Given the description of an element on the screen output the (x, y) to click on. 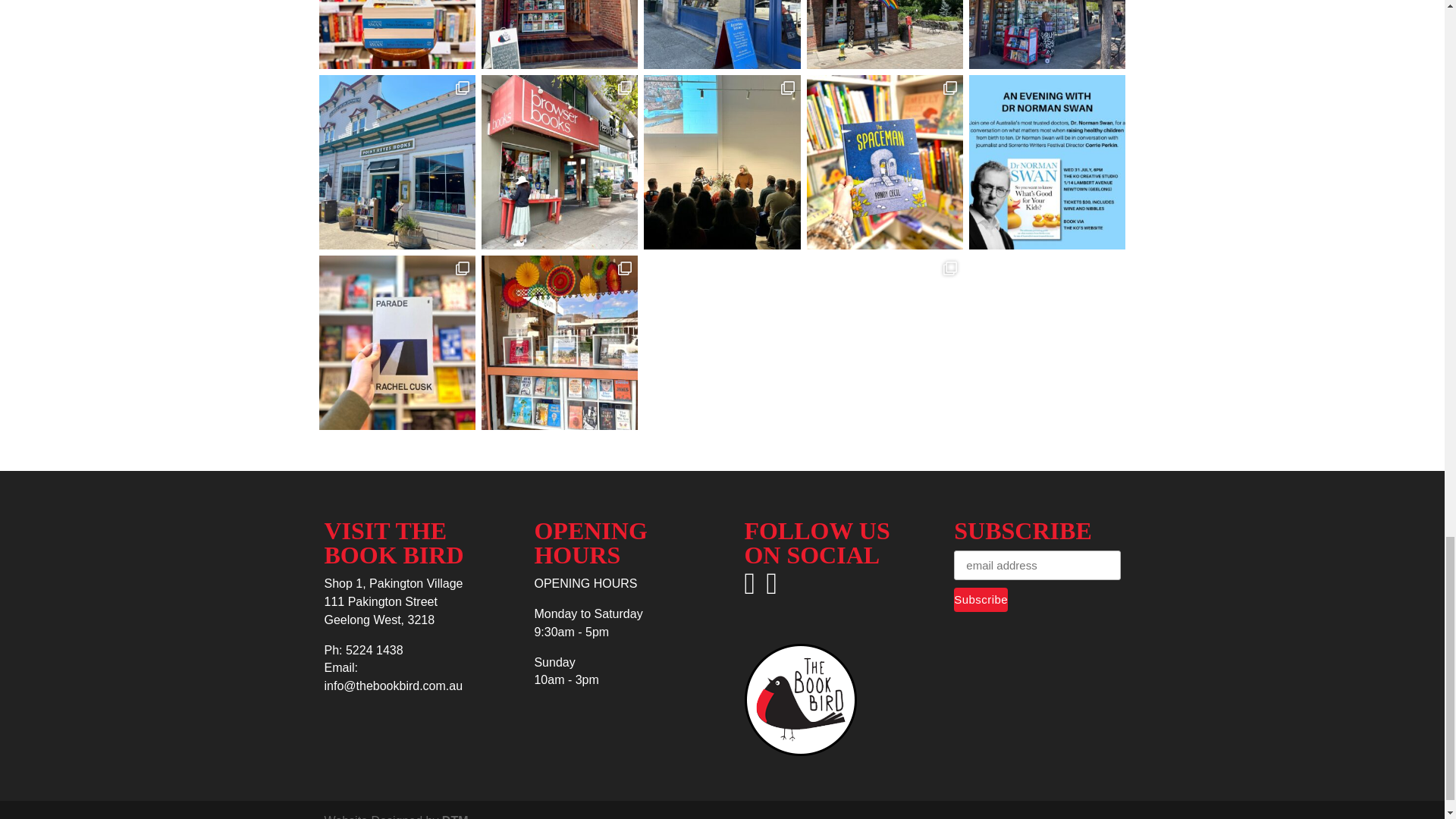
A quick flight to Seattle in order to see the emer (721, 34)
Geelong Website Design (455, 816)
Only a few more days to book your seat at our even (396, 34)
Subscribe (980, 599)
Next stop on our Californian bookshop tour is Poin (396, 162)
